Given the description of an element on the screen output the (x, y) to click on. 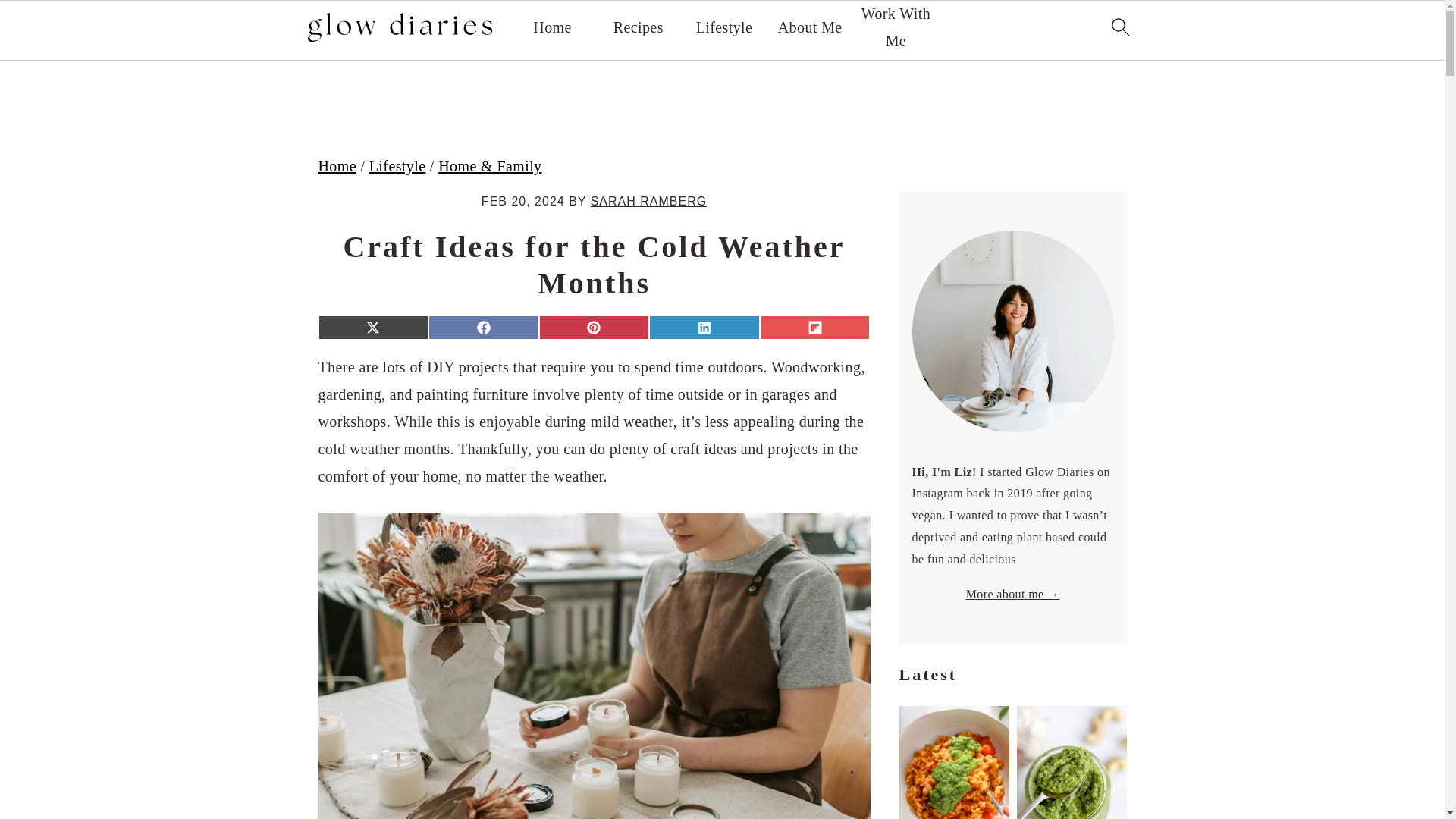
Lifestyle (397, 166)
SHARE ON LINKEDIN (704, 327)
SHARE ON FACEBOOK (483, 327)
SARAH RAMBERG (648, 201)
Home (551, 26)
Recipes (637, 26)
About Me (810, 26)
SHARE ON FLIP IT (815, 327)
search icon (1119, 26)
Home (337, 166)
SHARE ON PINTEREST (593, 327)
Work With Me (895, 27)
Lifestyle (723, 26)
